Given the description of an element on the screen output the (x, y) to click on. 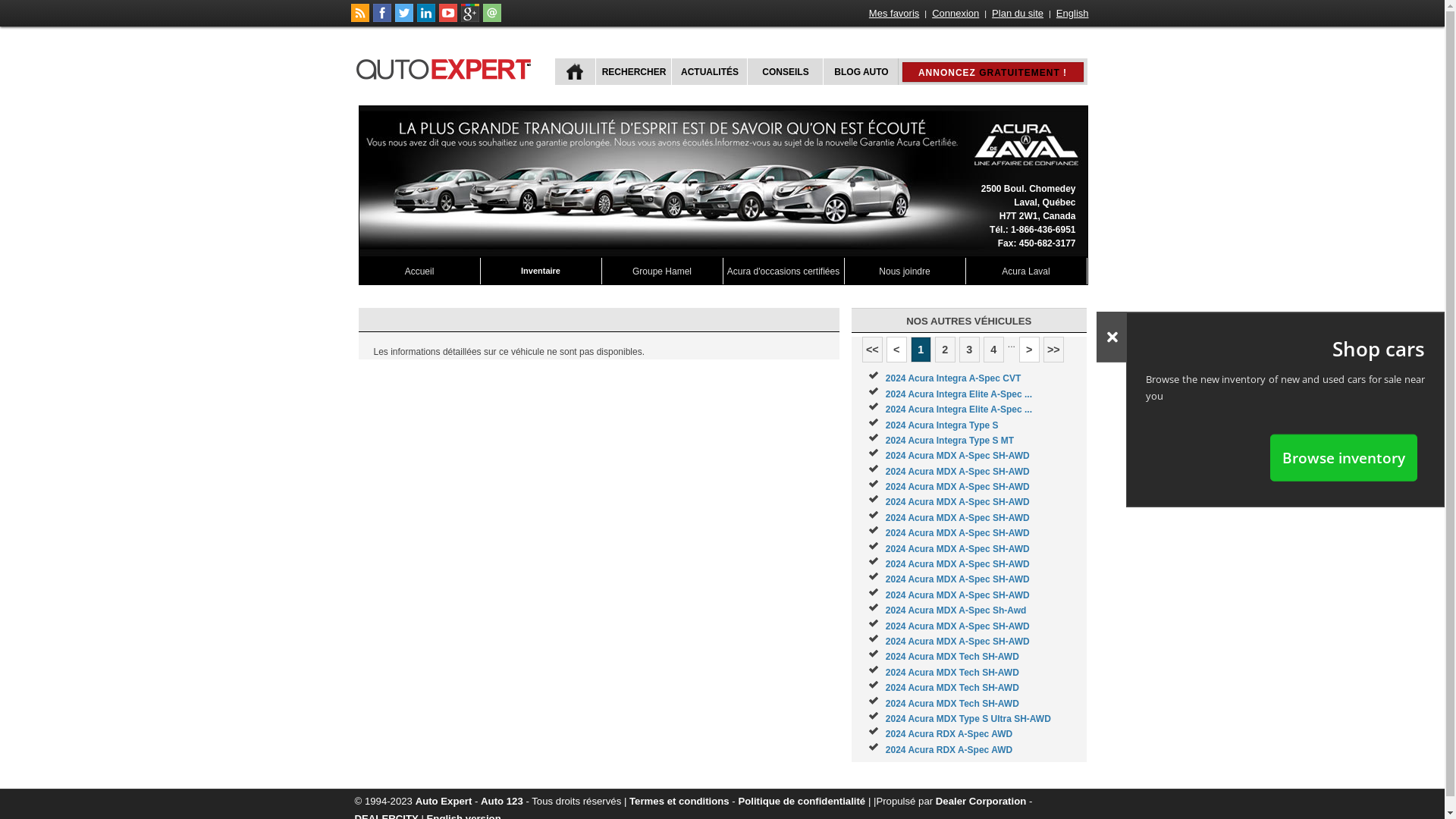
Termes et conditions Element type: text (679, 800)
2024 Acura MDX A-Spec SH-AWD Element type: text (957, 471)
Nous joindre Element type: text (905, 270)
Auto Expert Element type: text (443, 800)
2024 Acura MDX A-Spec SH-AWD Element type: text (957, 563)
>> Element type: text (1053, 349)
2024 Acura RDX A-Spec AWD Element type: text (948, 749)
BLOG AUTO Element type: text (859, 71)
ACCUEIL Element type: text (575, 71)
2024 Acura MDX Tech SH-AWD Element type: text (952, 672)
Acura Laval Element type: text (1026, 270)
2024 Acura Integra Elite A-Spec ... Element type: text (958, 394)
2024 Acura MDX Type S Ultra SH-AWD Element type: text (968, 718)
Dealer Corporation Element type: text (980, 800)
2024 Acura MDX A-Spec SH-AWD Element type: text (957, 579)
Groupe Hamel Element type: text (662, 270)
CONSEILS Element type: text (783, 71)
2024 Acura Integra A-Spec CVT Element type: text (953, 378)
1 Element type: text (920, 349)
2024 Acura MDX Tech SH-AWD Element type: text (952, 656)
2024 Acura MDX A-Spec SH-AWD Element type: text (957, 532)
<< Element type: text (872, 349)
2024 Acura Integra Elite A-Spec ... Element type: text (958, 409)
Suivez autoExpert.ca sur Youtube Element type: hover (447, 18)
3 Element type: text (969, 349)
Joindre autoExpert.ca Element type: hover (491, 18)
ANNONCEZ GRATUITEMENT ! Element type: text (992, 71)
Browse inventory Element type: text (1343, 457)
2024 Acura RDX A-Spec AWD Element type: text (948, 733)
RECHERCHER Element type: text (631, 71)
Inventaire Element type: text (541, 270)
2024 Acura MDX A-Spec SH-AWD Element type: text (957, 486)
Suivez Publications Le Guide Inc. sur LinkedIn Element type: hover (426, 18)
Connexion Element type: text (955, 13)
Suivez autoExpert.ca sur Twitter Element type: hover (403, 18)
4 Element type: text (993, 349)
Plan du site Element type: text (1017, 13)
Accueil Element type: text (419, 270)
2024 Acura Integra Type S Element type: text (941, 425)
Auto 123 Element type: text (501, 800)
2024 Acura MDX A-Spec SH-AWD Element type: text (957, 501)
English Element type: text (1072, 13)
< Element type: text (896, 349)
2024 Acura MDX A-Spec SH-AWD Element type: text (957, 626)
2024 Acura MDX Tech SH-AWD Element type: text (952, 687)
2024 Acura MDX A-Spec SH-AWD Element type: text (957, 641)
autoExpert.ca Element type: text (446, 66)
> Element type: text (1029, 349)
2 Element type: text (945, 349)
2024 Acura MDX Tech SH-AWD Element type: text (952, 703)
2024 Acura MDX A-Spec SH-AWD Element type: text (957, 517)
Suivez autoExpert.ca sur Facebook Element type: hover (382, 18)
2024 Acura Integra Type S MT Element type: text (949, 440)
2024 Acura MDX A-Spec SH-AWD Element type: text (957, 594)
2024 Acura MDX A-Spec SH-AWD Element type: text (957, 548)
Suivez autoExpert.ca sur Google Plus Element type: hover (470, 18)
2024 Acura MDX A-Spec SH-AWD Element type: text (957, 455)
Mes favoris Element type: text (893, 13)
2024 Acura MDX A-Spec Sh-Awd Element type: text (955, 610)
